Given the description of an element on the screen output the (x, y) to click on. 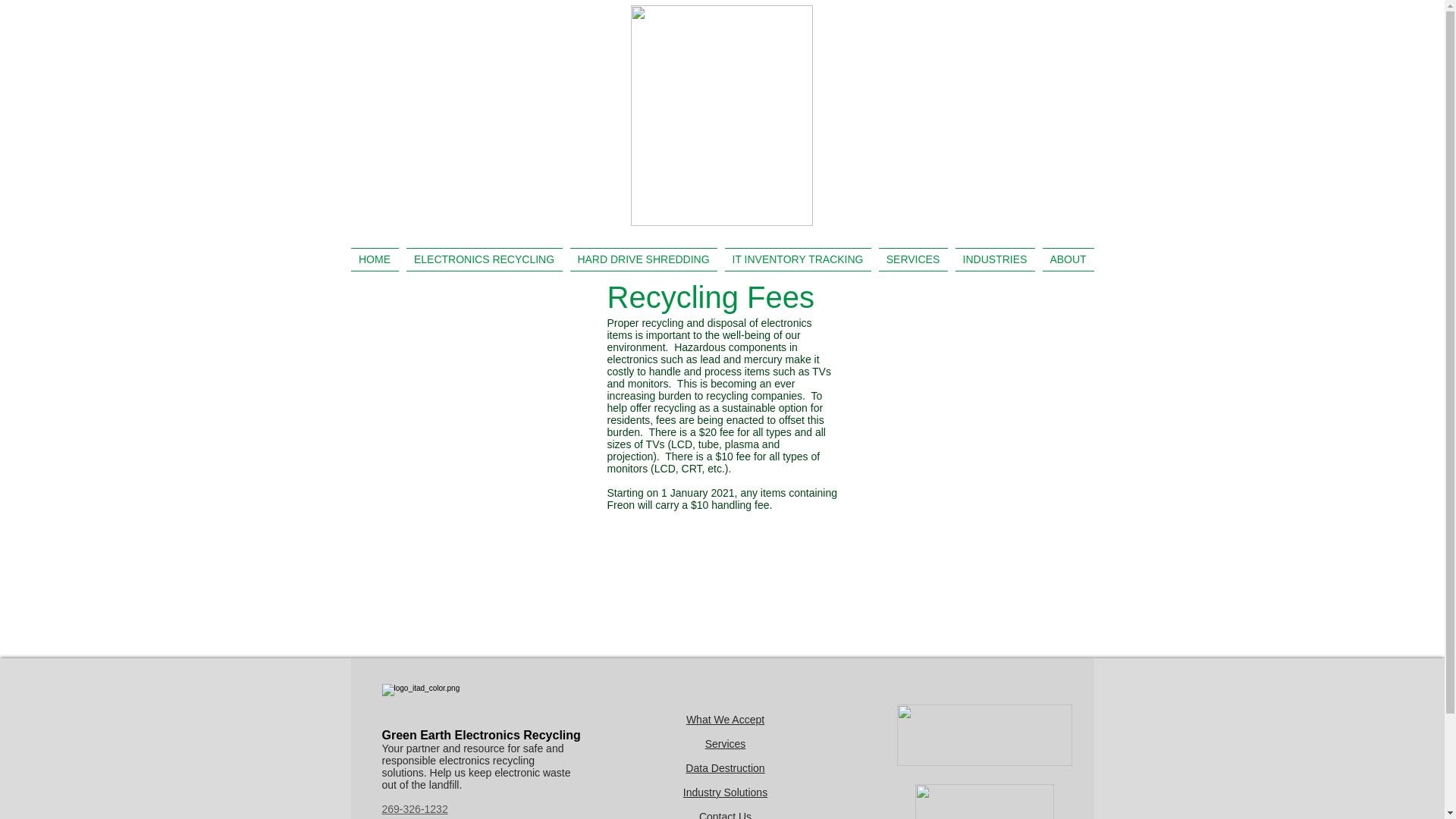
INDUSTRIES (994, 259)
ELECTRONICS RECYCLING (483, 259)
SERVICES (913, 259)
HARD DRIVE SHREDDING (643, 259)
HOME (375, 259)
Services (724, 743)
269-326-1232 (414, 808)
ABOUT (1066, 259)
What We Accept (724, 719)
Data Destruction (724, 767)
Industry Solutions (724, 792)
IT INVENTORY TRACKING (797, 259)
